Given the description of an element on the screen output the (x, y) to click on. 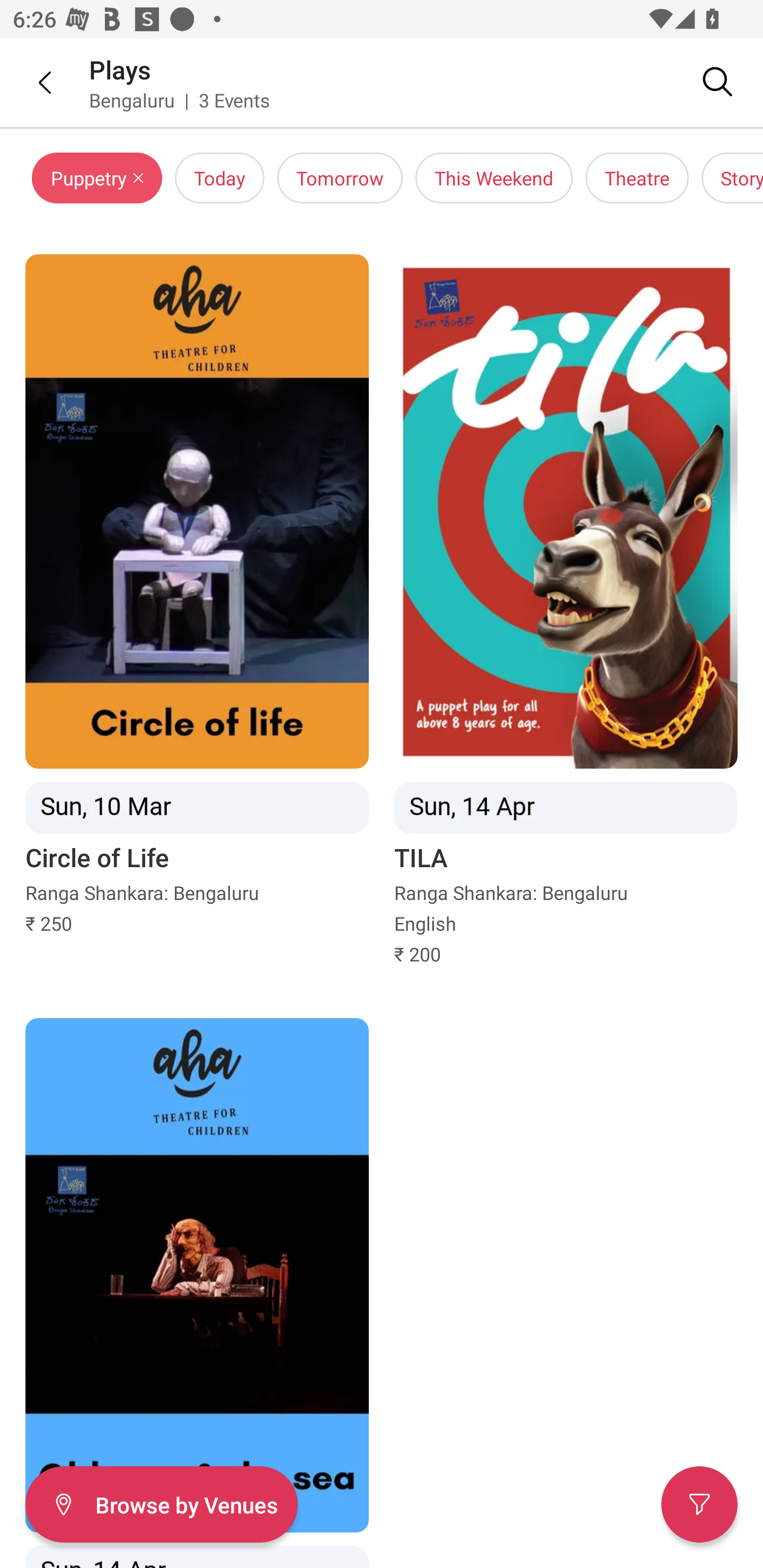
Back (31, 82)
Plays (120, 68)
Bengaluru  |  3 Events (179, 99)
Puppetry Close (96, 177)
Today (219, 177)
Tomorrow (339, 177)
This Weekend (494, 177)
Theatre (636, 177)
Circle of Life Ranga Shankara: Bengaluru ₹ 250 (196, 610)
TILA Ranga Shankara: Bengaluru English ₹ 200 (565, 610)
Filter Browse by Venues (161, 1504)
Filter (699, 1504)
